Given the description of an element on the screen output the (x, y) to click on. 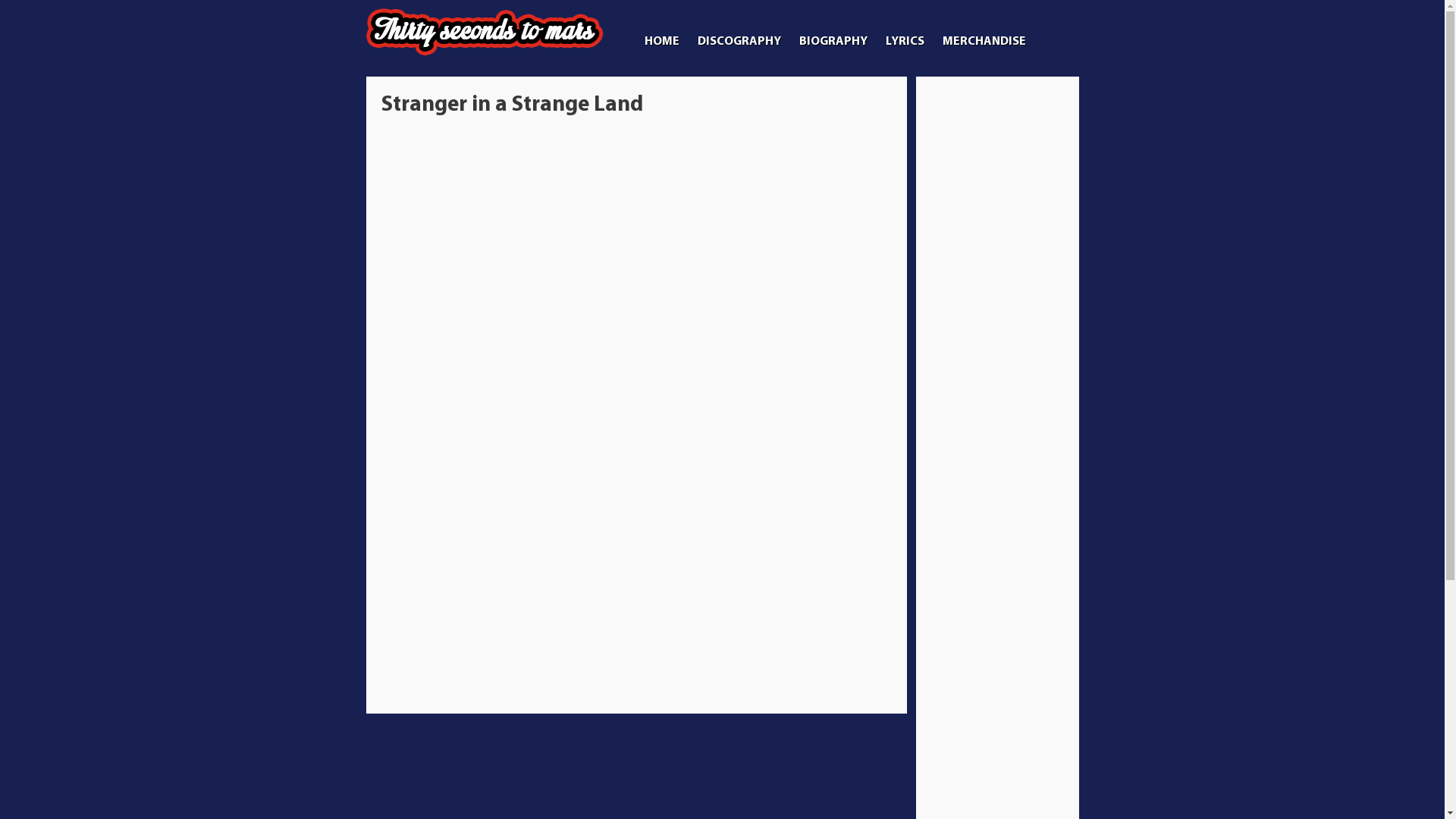
Advertisement Element type: hover (996, 318)
MERCHANDISE Element type: text (983, 41)
HOME Element type: text (661, 41)
LYRICS Element type: text (904, 41)
DISCOGRAPHY Element type: text (739, 41)
BIOGRAPHY Element type: text (833, 41)
